Given the description of an element on the screen output the (x, y) to click on. 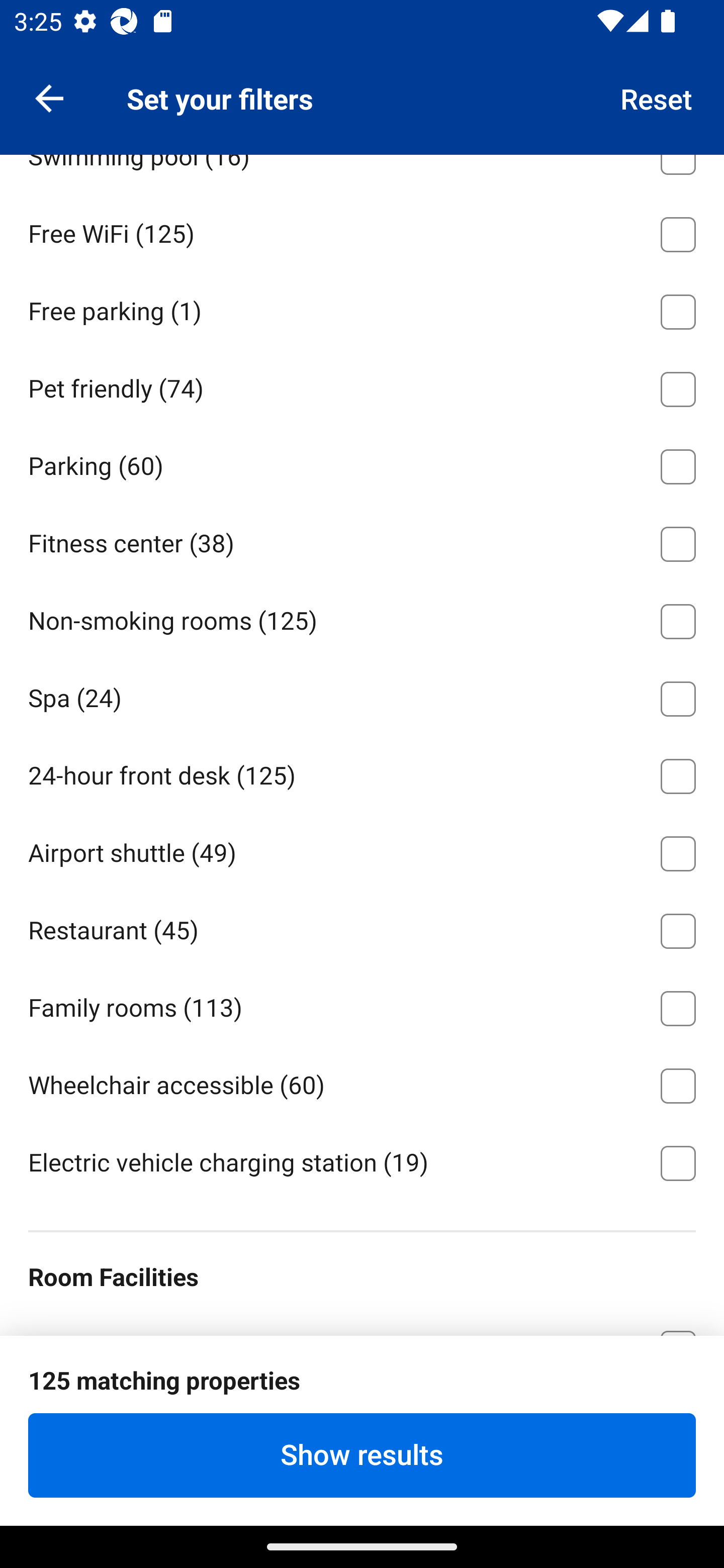
Room service ⁦(125) (361, 75)
Navigate up (49, 97)
Reset (656, 97)
Free WiFi ⁦(125) (361, 230)
Free parking ⁦(1) (361, 307)
Pet friendly ⁦(74) (361, 385)
Parking ⁦(60) (361, 462)
Fitness center ⁦(38) (361, 540)
Non-smoking rooms ⁦(125) (361, 618)
Spa ⁦(24) (361, 694)
24-hour front desk ⁦(125) (361, 772)
Airport shuttle ⁦(49) (361, 850)
Restaurant ⁦(45) (361, 927)
Family rooms ⁦(113) (361, 1004)
Wheelchair accessible ⁦(60) (361, 1082)
Electric vehicle charging station ⁦(19) (361, 1161)
Show results (361, 1454)
